Given the description of an element on the screen output the (x, y) to click on. 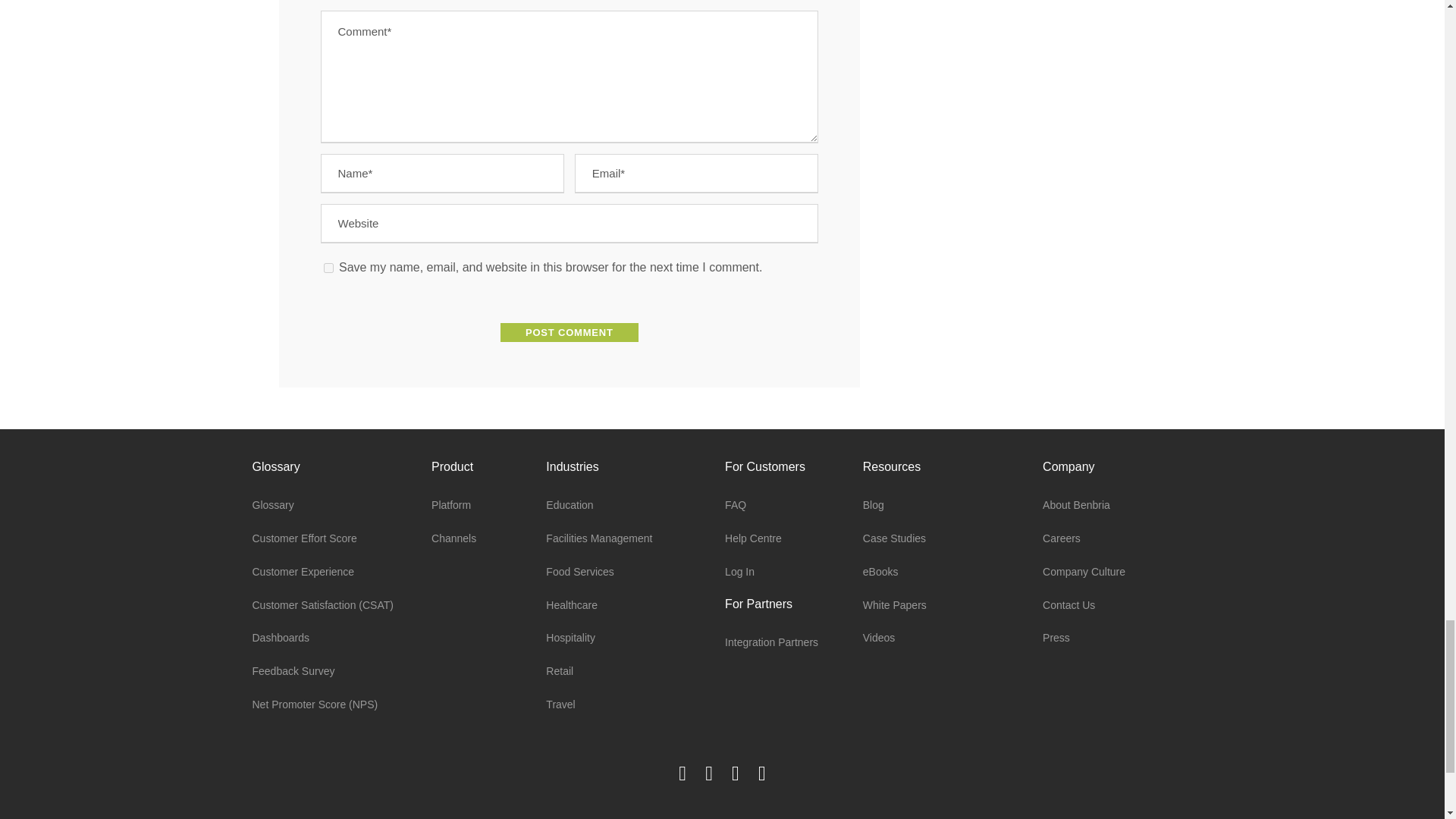
yes (328, 267)
Post Comment (569, 332)
